Given the description of an element on the screen output the (x, y) to click on. 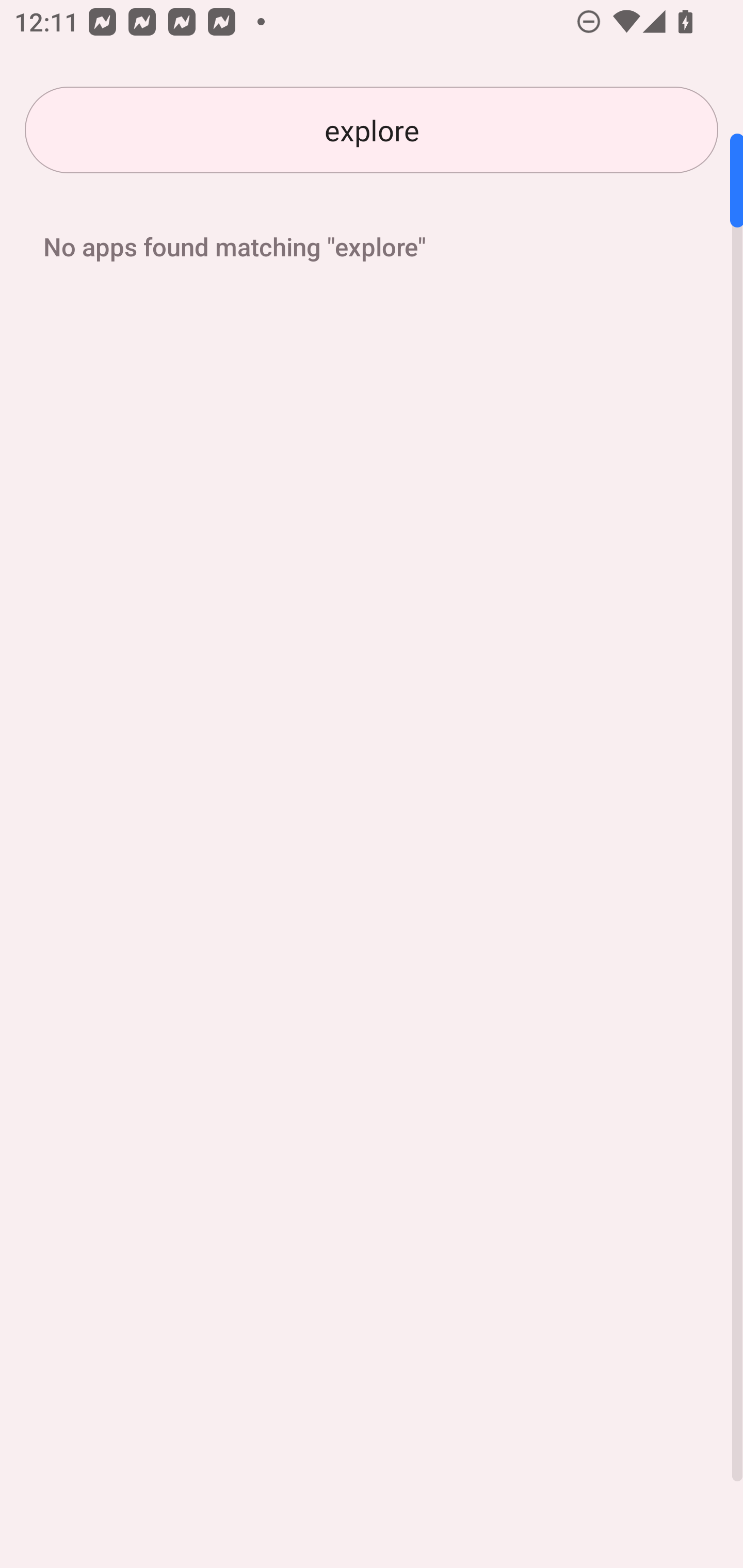
explore (371, 130)
